Given the description of an element on the screen output the (x, y) to click on. 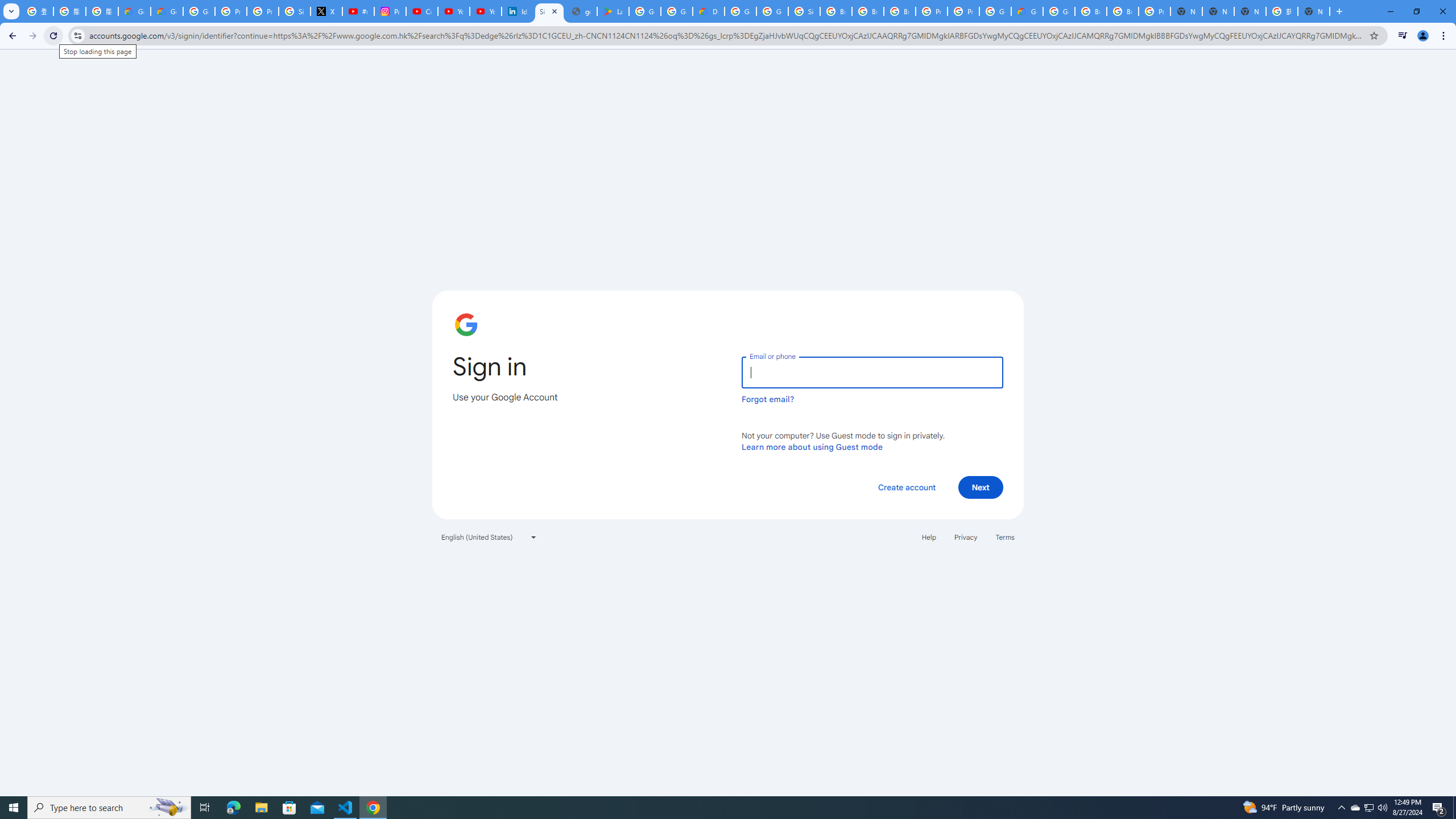
Browse Chrome as a guest - Computer - Google Chrome Help (836, 11)
Learn more about using Guest mode (812, 446)
New Tab (1313, 11)
Sign in - Google Accounts (549, 11)
Privacy Help Center - Policies Help (230, 11)
Google Cloud Privacy Notice (134, 11)
